Given the description of an element on the screen output the (x, y) to click on. 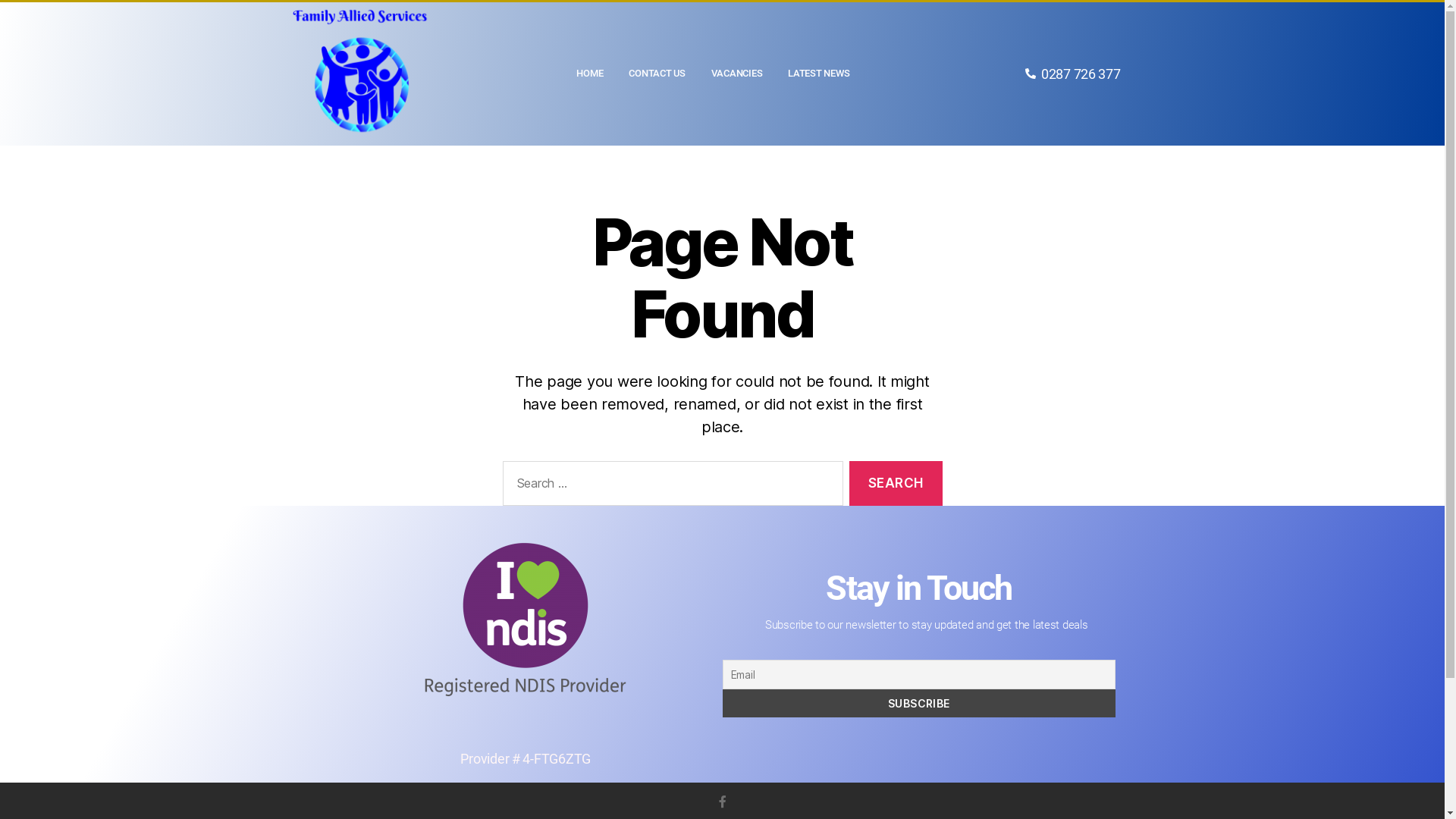
Search Element type: text (895, 483)
LATEST NEWS Element type: text (818, 73)
VACANCIES Element type: text (736, 73)
HOME Element type: text (589, 73)
Subscribe Element type: text (918, 703)
CONTACT US Element type: text (656, 73)
